Given the description of an element on the screen output the (x, y) to click on. 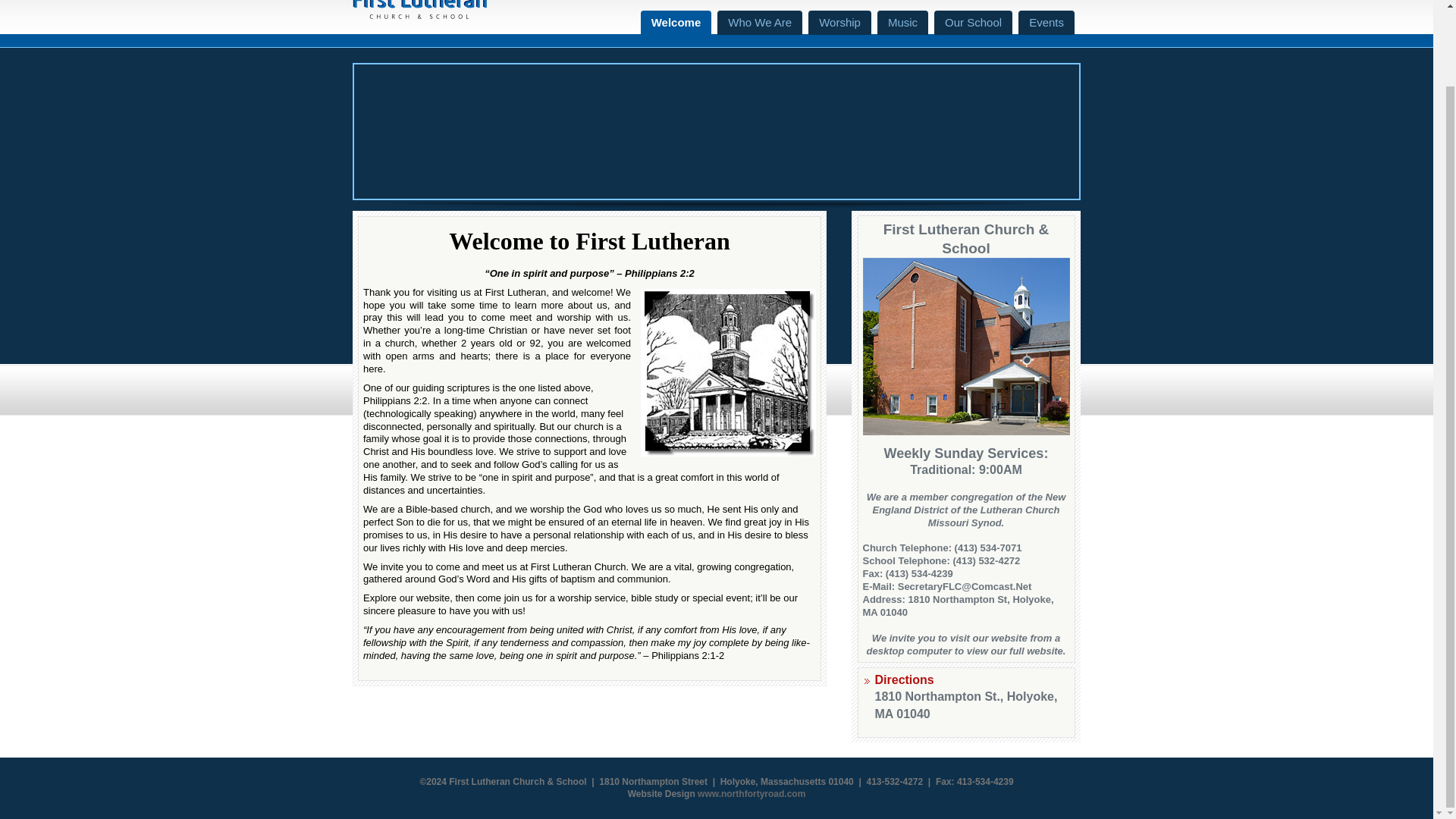
www.northfortyroad.com (751, 793)
Welcome (675, 22)
Events (1045, 22)
Who We Are (759, 22)
Worship (839, 22)
Our School (972, 22)
Skip To Content (668, 24)
Skip to content (668, 24)
Music (902, 22)
